Given the description of an element on the screen output the (x, y) to click on. 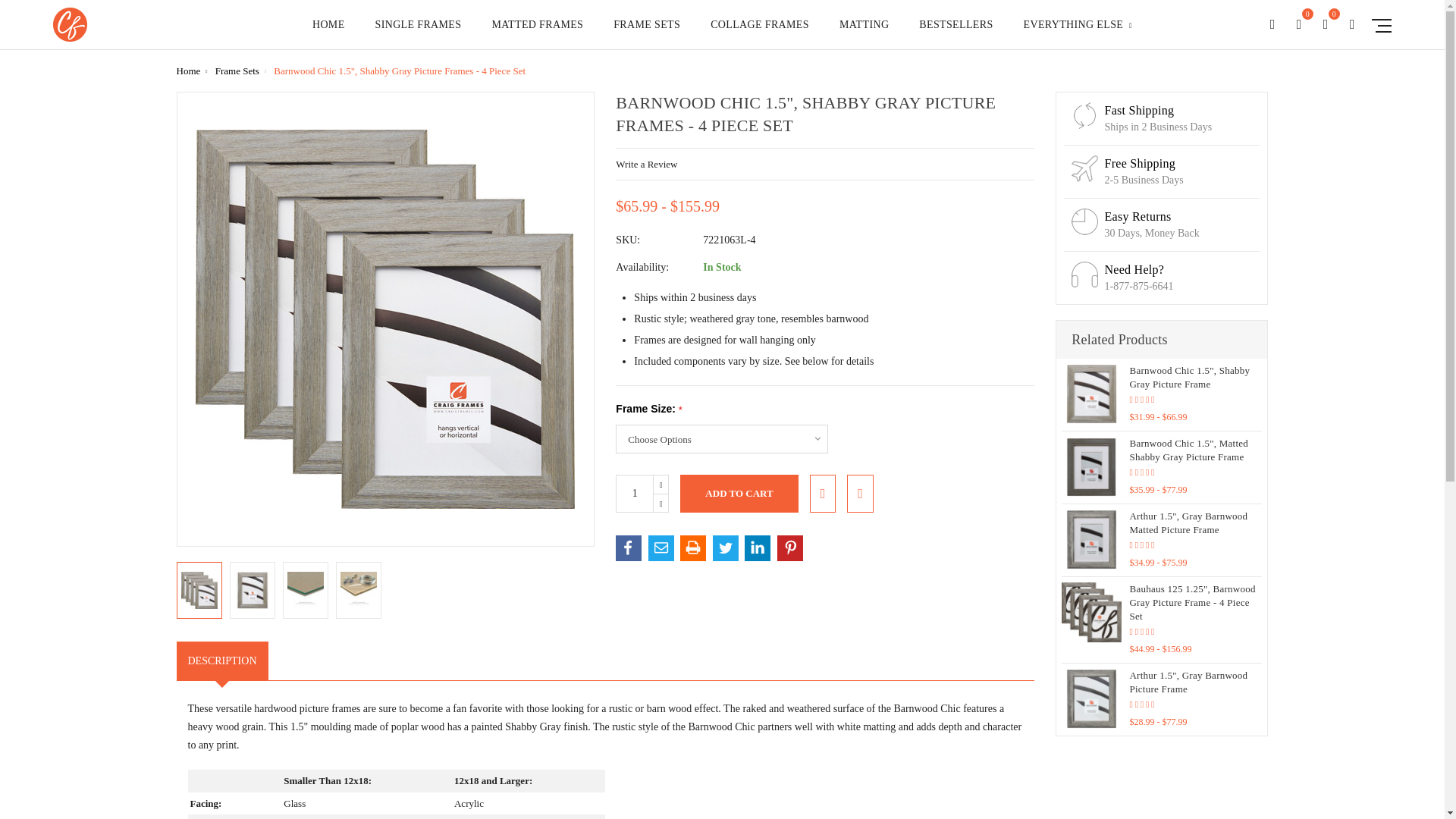
Arthur 1.5", Gray Barnwood Picture Frame (1091, 698)
Add to Cart (738, 493)
0 (1299, 24)
HOME (329, 34)
Barnwood Chic 1.5", Shabby Gray Picture Frame (1091, 393)
Barnwood Chic 1.5", Shabby Gray Picture Frames - 4 Piece Set (304, 589)
Bauhaus 125 1.25", Barnwood Gray Picture Frame - 4 Piece Set (1091, 612)
0 (1325, 24)
EVERYTHING ELSE (1077, 34)
FRAME SETS (645, 34)
COLLAGE FRAMES (759, 34)
Barnwood Chic 1.5", Matted Shabby Gray Picture Frame (1091, 466)
SINGLE FRAMES (418, 34)
BESTSELLERS (955, 34)
